Given the description of an element on the screen output the (x, y) to click on. 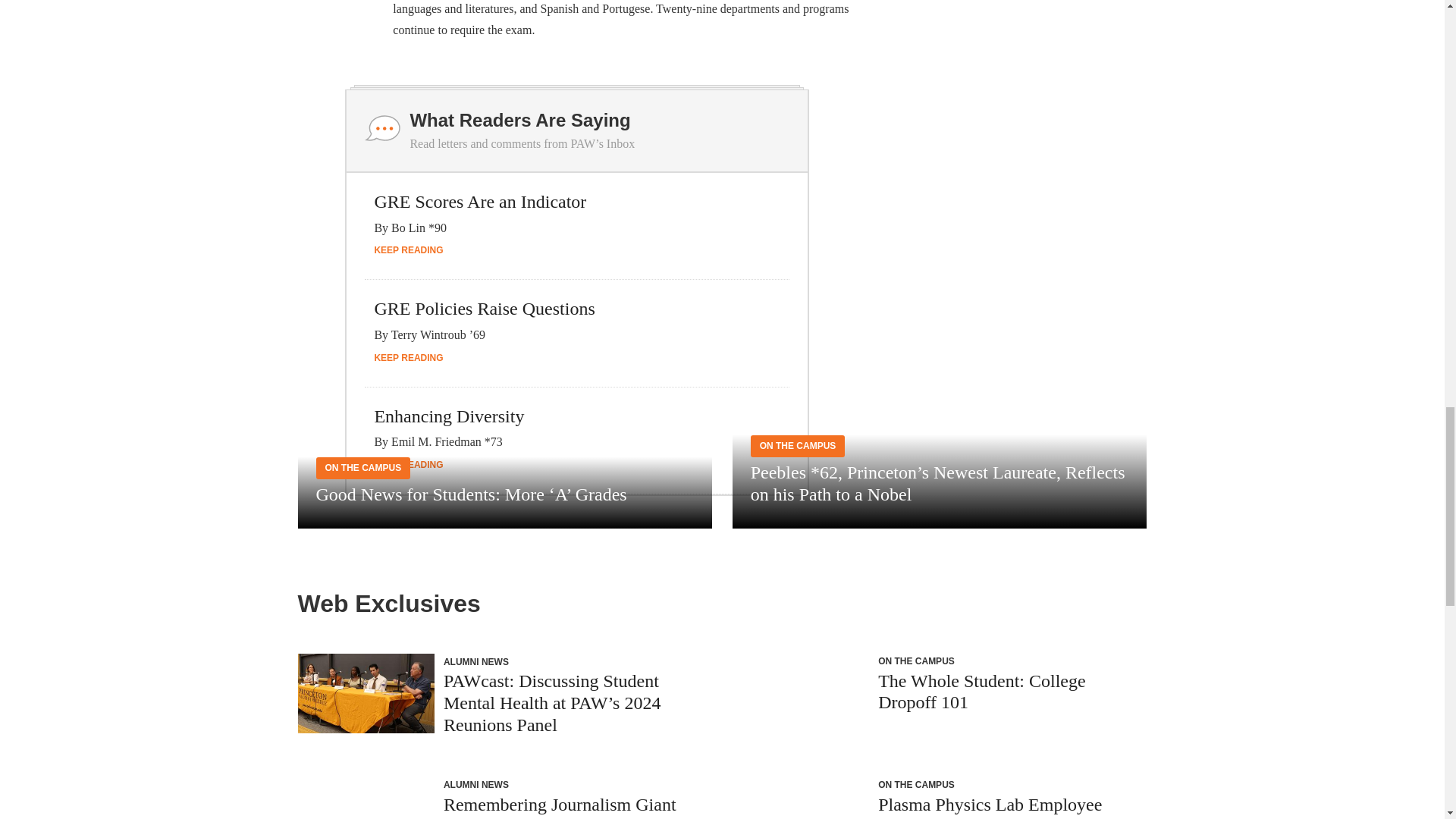
GRE Scores Are an Indicator (480, 201)
KEEP READING (408, 249)
GRE Policies Raise Questions (484, 308)
